Given the description of an element on the screen output the (x, y) to click on. 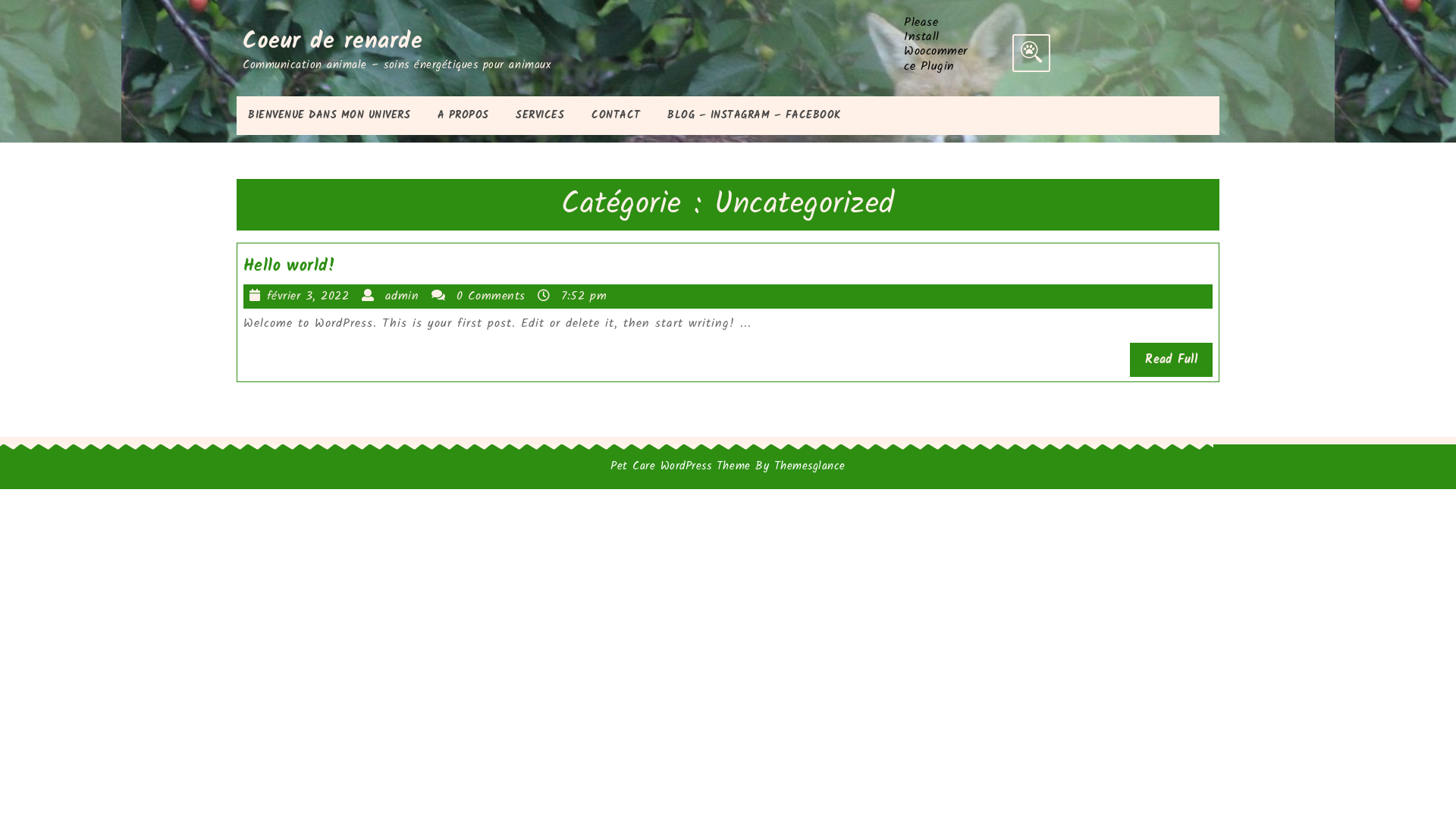
A PROPOS Element type: text (463, 115)
Read Full
Read Full Element type: text (1170, 359)
Hello world!
Hello world! Element type: text (289, 266)
admin
admin Element type: text (402, 295)
Search Element type: text (1031, 53)
SERVICES Element type: text (539, 115)
Pet Care WordPress Theme Element type: text (679, 466)
CONTACT Element type: text (616, 115)
Coeur de renarde Element type: text (332, 41)
BIENVENUE DANS MON UNIVERS Element type: text (328, 115)
